Given the description of an element on the screen output the (x, y) to click on. 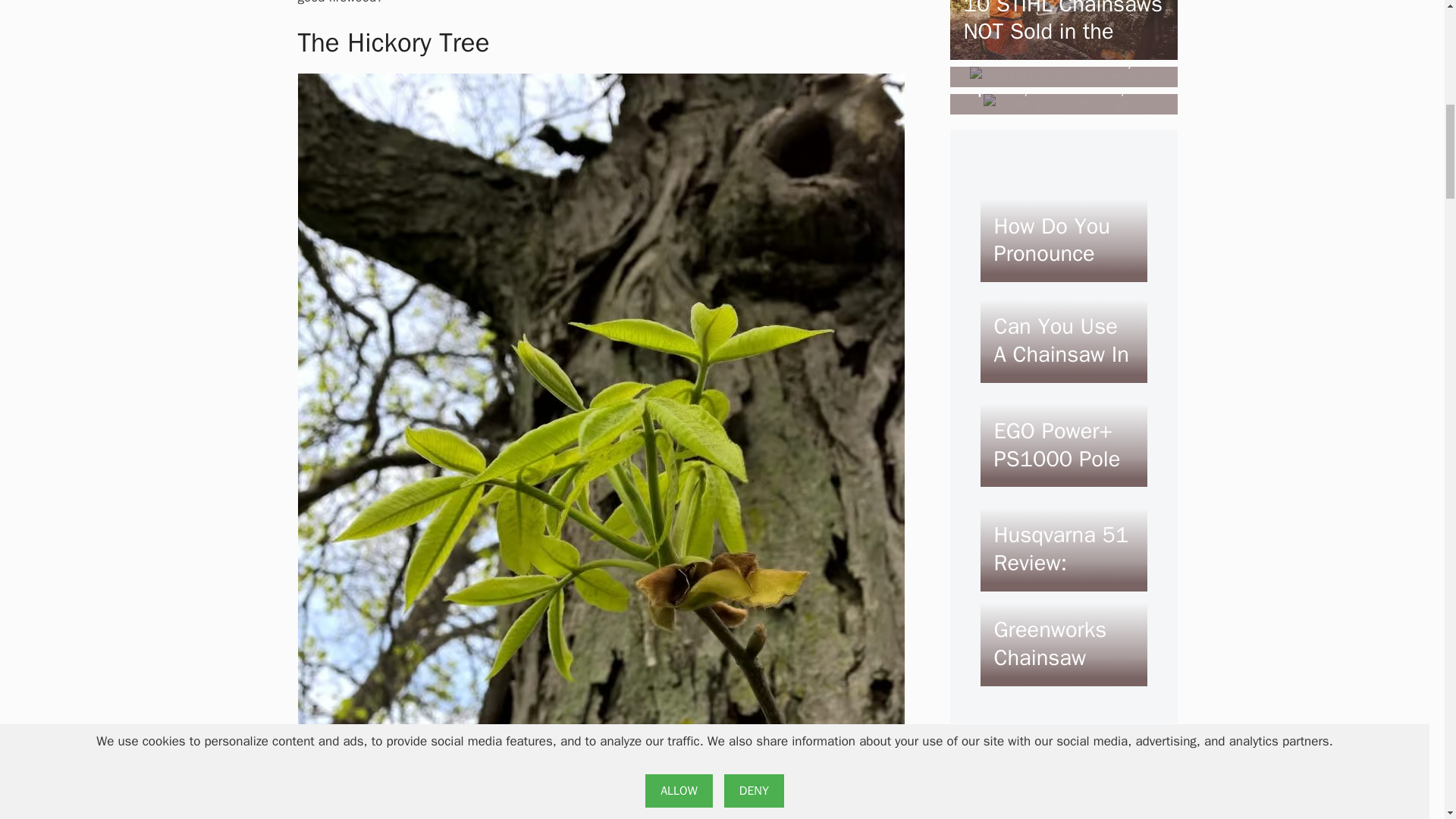
Stihl 041 Chainsaw Review: Versions, Specs, Features, Price (1056, 72)
10 STIHL Chainsaws NOT Sold in the USA, Canada, or Europe (1062, 48)
Stihl 041 Chainsaw Review: Versions, Specs, Features, Price (1063, 76)
10 STIHL Chainsaws NOT Sold in the USA, Canada, or Europe (1061, 50)
